Given the description of an element on the screen output the (x, y) to click on. 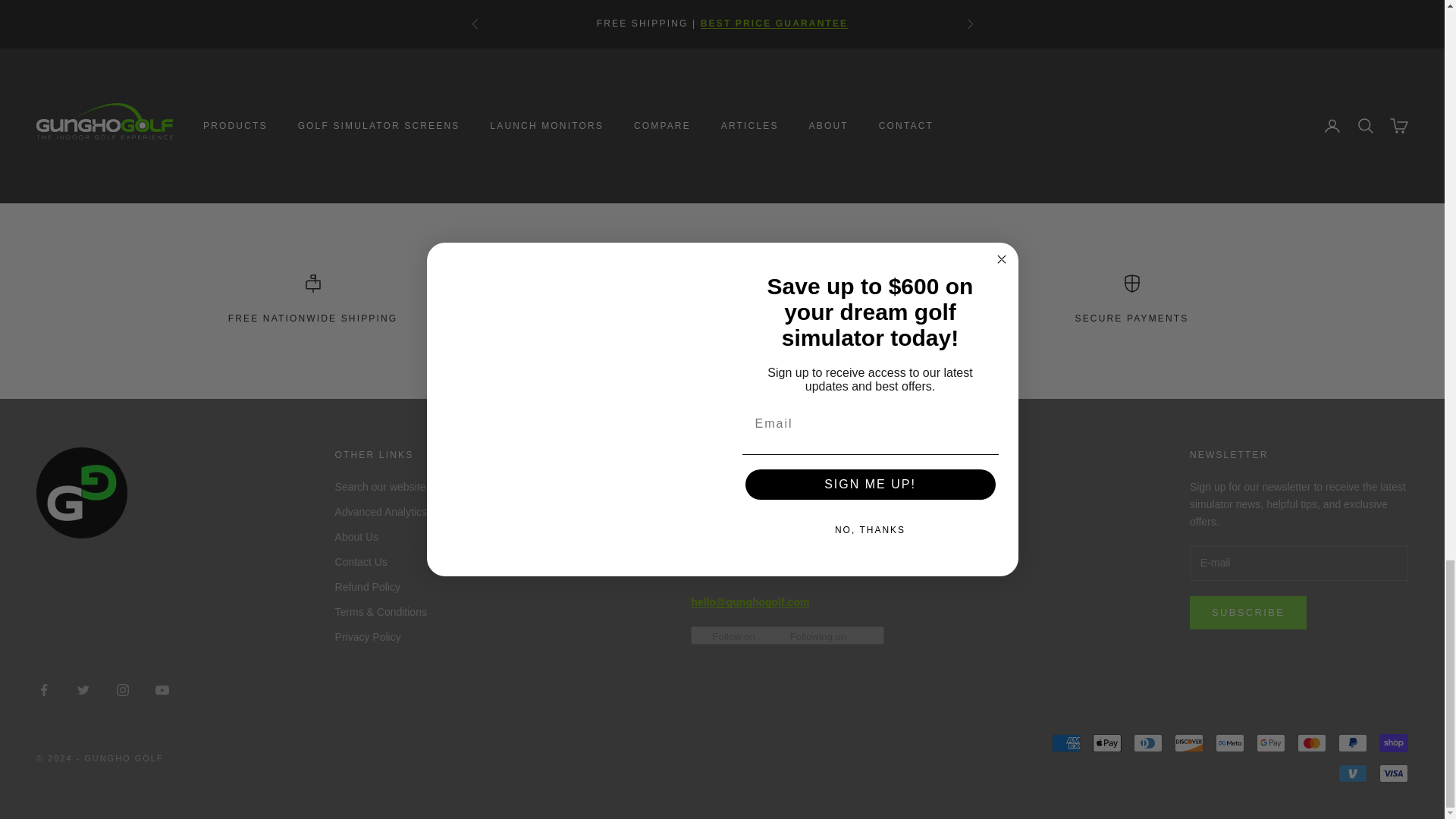
Click to call or text us (727, 569)
Click to email us (749, 602)
